Given the description of an element on the screen output the (x, y) to click on. 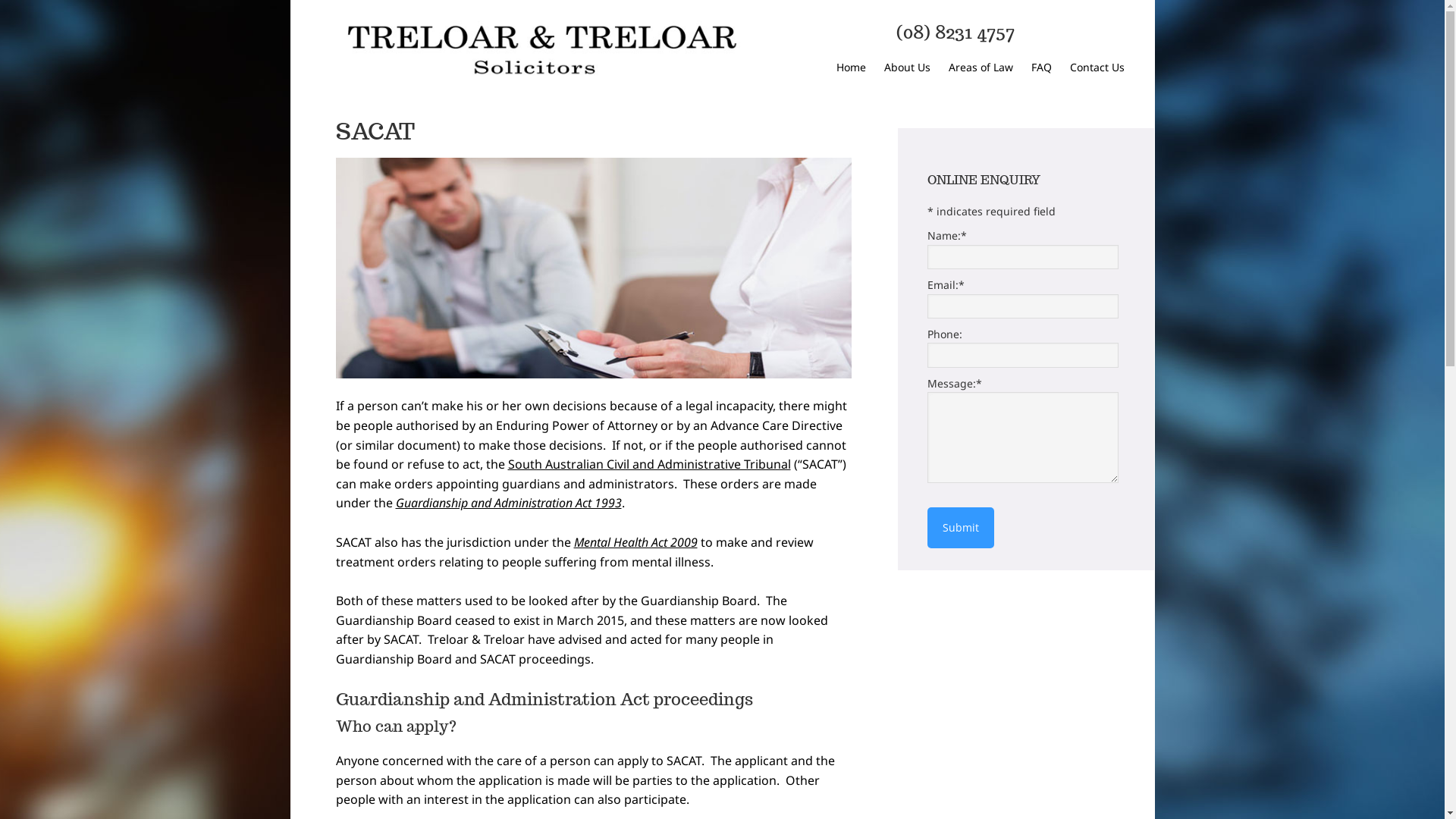
Contact Us Element type: text (1096, 68)
Areas of Law Element type: text (979, 68)
FAQ Element type: text (1041, 68)
Mental Health Act 2009 Element type: text (634, 541)
Submit Element type: text (959, 527)
Skip to main content Element type: text (289, 0)
South Australian Civil and Administrative Tribunal Element type: text (649, 463)
Treloar & Treloar Element type: hover (539, 50)
Guardianship and Administration Act 1993 Element type: text (508, 502)
About Us Element type: text (907, 68)
Home Element type: text (850, 68)
